Given the description of an element on the screen output the (x, y) to click on. 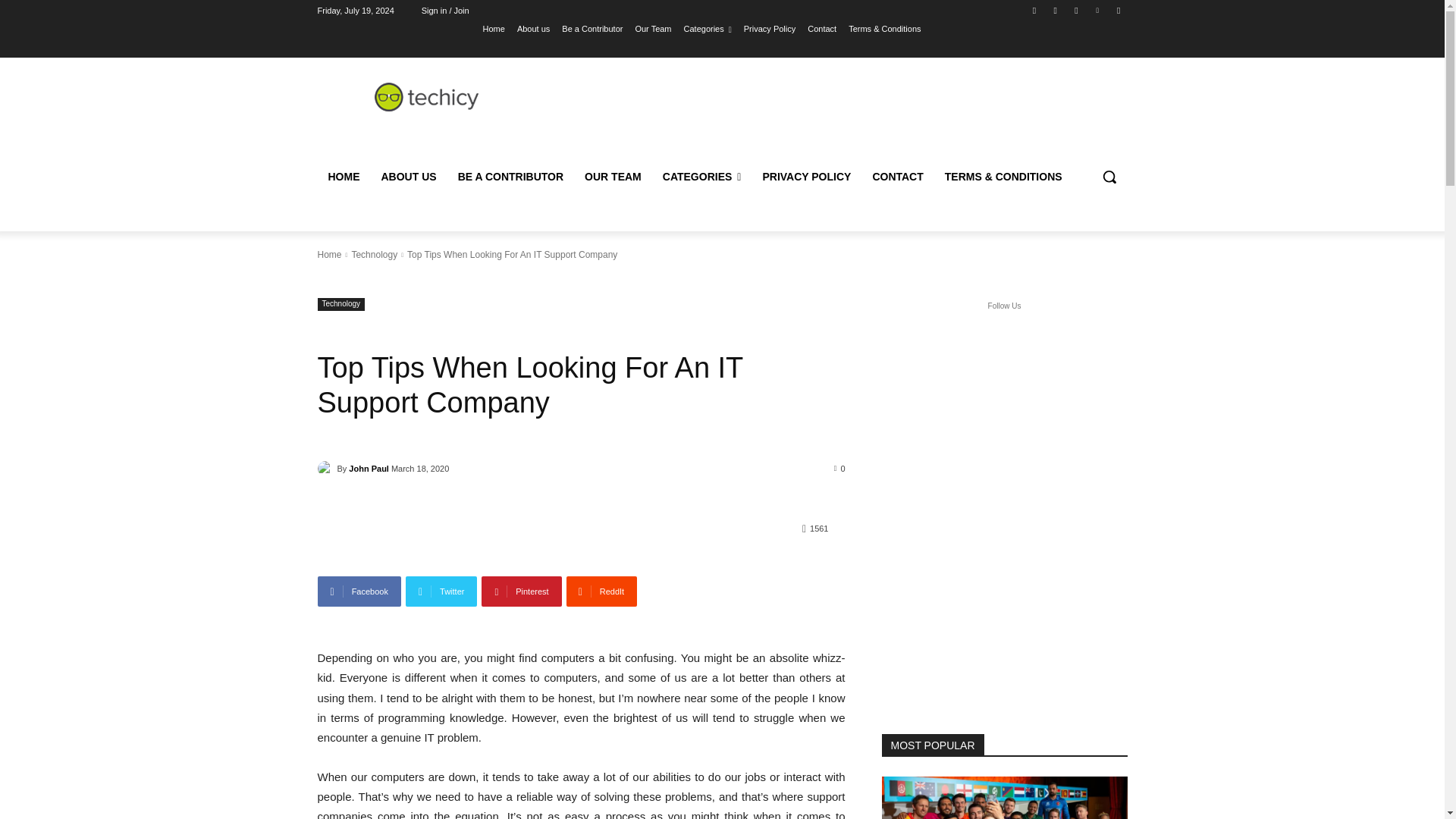
Twitter (441, 591)
Categories (708, 28)
Home (494, 28)
John Paul (326, 468)
Be a Contributor (592, 28)
Youtube (1117, 9)
Vimeo (1097, 9)
Privacy Policy (769, 28)
Twitter (1075, 9)
View all posts in Technology (373, 254)
Instagram (1055, 9)
Facebook (1034, 9)
Our Team (652, 28)
About us (533, 28)
Contact (821, 28)
